Given the description of an element on the screen output the (x, y) to click on. 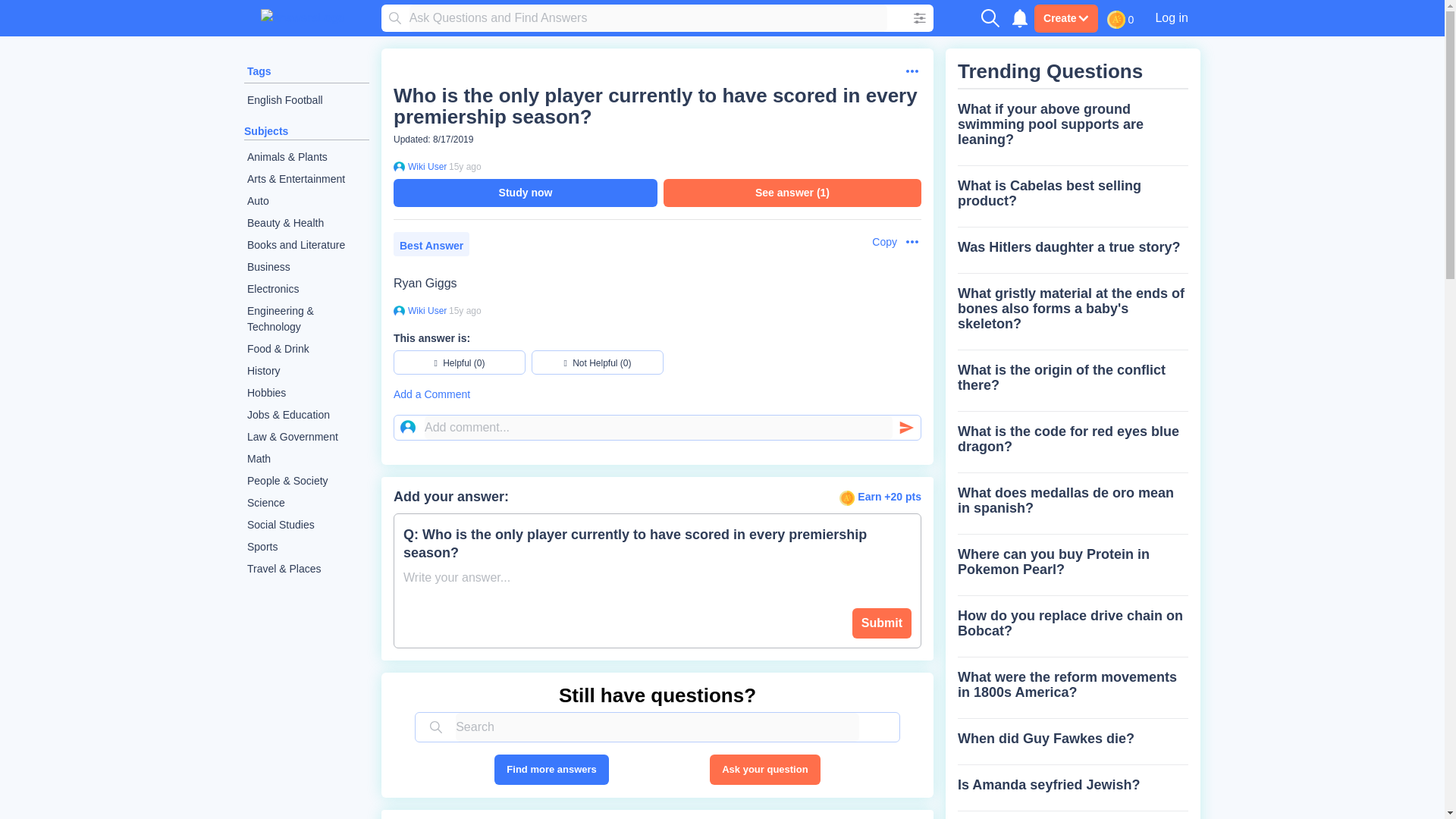
2009-02-10 22:17:56 (464, 166)
Electronics (306, 289)
Wiki User (425, 310)
Auto (306, 201)
Log in (1170, 17)
Math (306, 458)
Wiki User (425, 166)
Create (1065, 18)
Sports (306, 546)
Copy (876, 242)
